Given the description of an element on the screen output the (x, y) to click on. 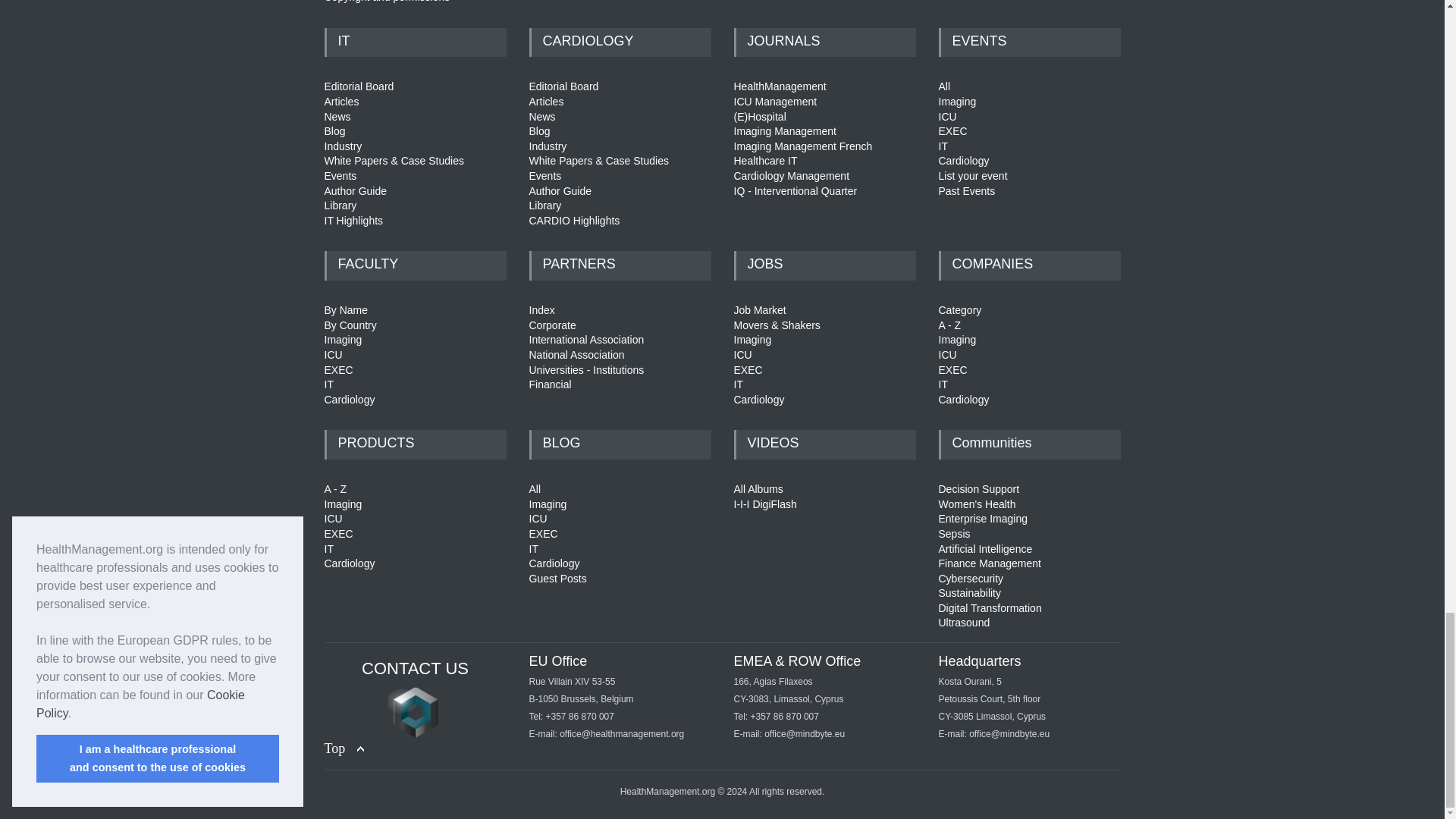
Top (344, 748)
